Given the description of an element on the screen output the (x, y) to click on. 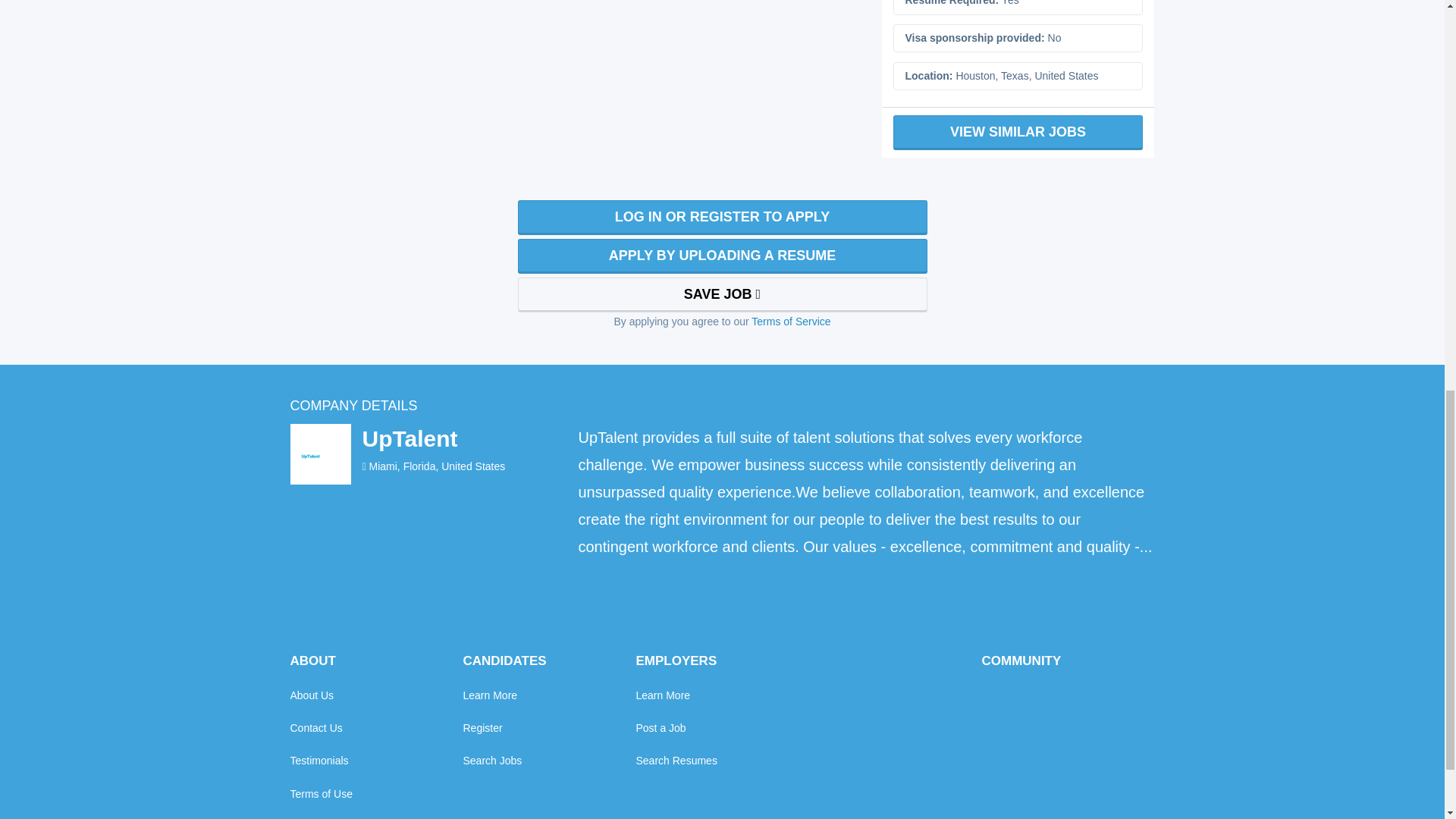
APPLY BY UPLOADING A RESUME (721, 256)
Terms of Use (320, 793)
Contact Us (315, 727)
UpTalent (409, 438)
Learn More (489, 694)
About Us (311, 694)
Post a Job (659, 727)
Search Jobs (492, 760)
Search Resumes (675, 760)
Testimonials (318, 760)
